Given the description of an element on the screen output the (x, y) to click on. 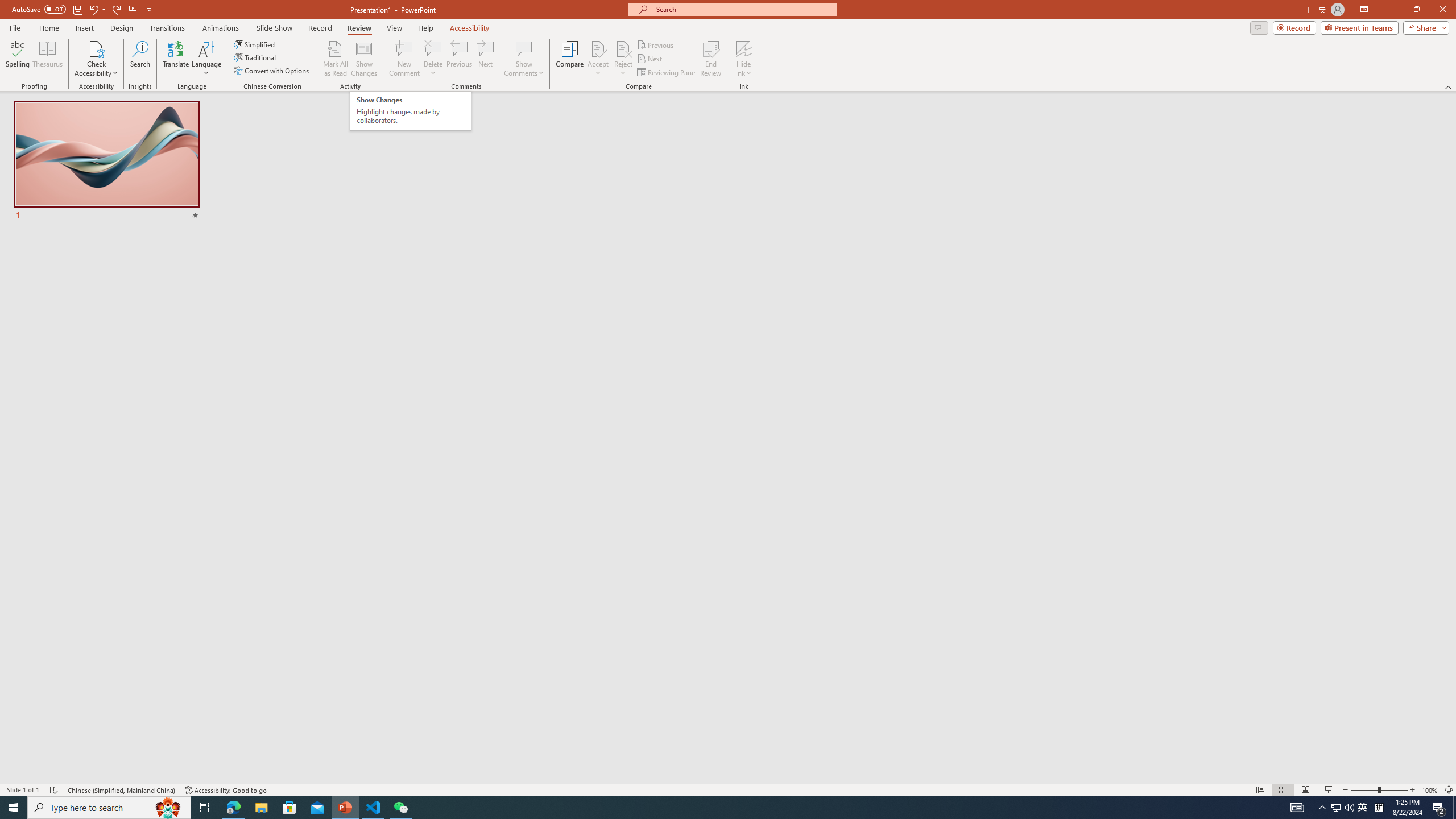
Simplified (254, 44)
Mark All as Read (335, 58)
Compare (569, 58)
